Given the description of an element on the screen output the (x, y) to click on. 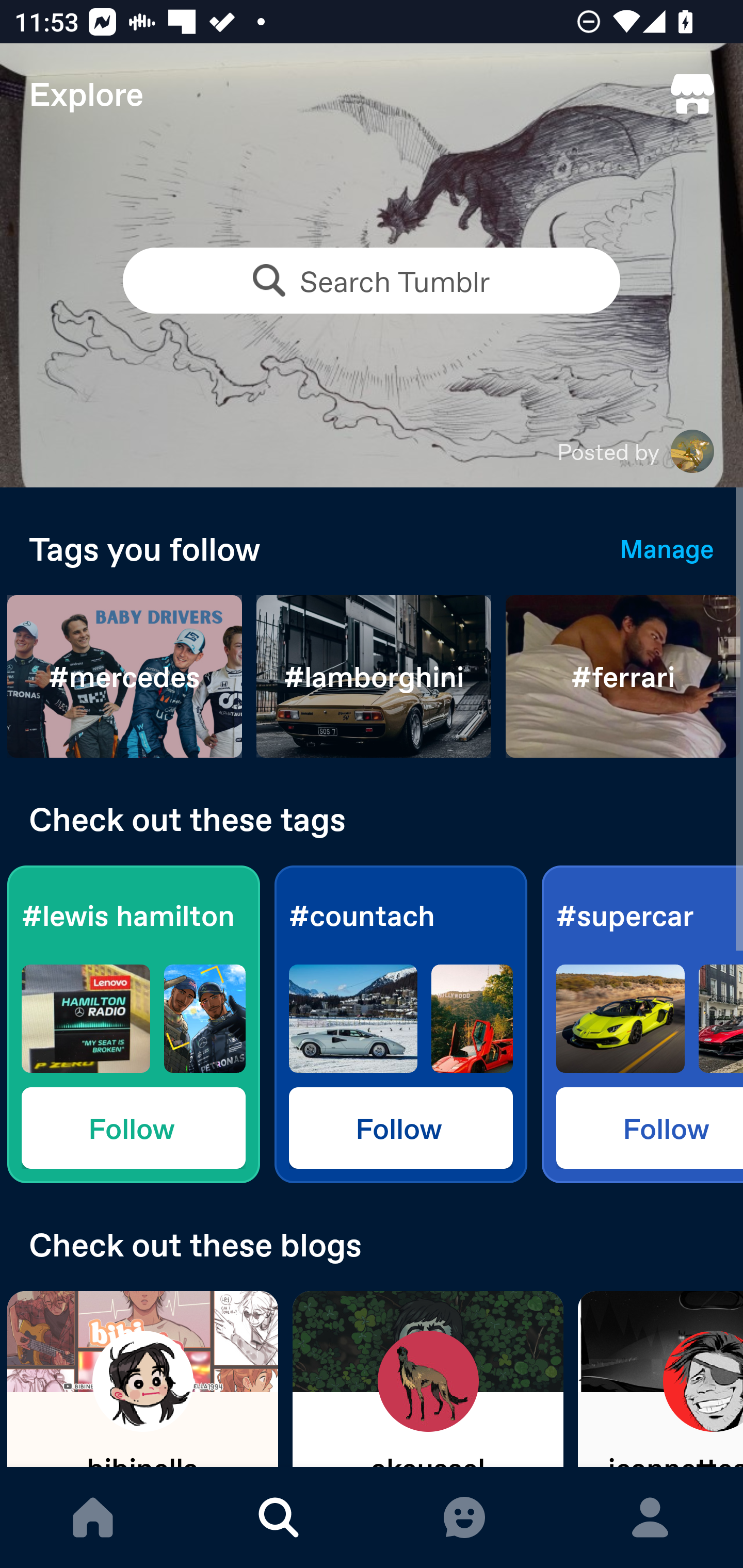
TumblrMart (692, 94)
Search Tumblr (371, 280)
Tags you follow (309, 547)
Manage (666, 547)
#mercedes (124, 676)
#lamborghini (373, 676)
#ferrari (622, 676)
Check out these tags (371, 819)
#lewis hamilton Follow (133, 1024)
#countach Follow (400, 1024)
#supercar Follow (642, 1024)
Follow (133, 1127)
Follow (400, 1127)
Follow (649, 1127)
Check out these blogs (371, 1244)
bibinella (142, 1378)
akeussel (427, 1378)
jeannettearroyo (660, 1378)
DASHBOARD (92, 1517)
EXPLORE (278, 1517)
MESSAGES (464, 1517)
ACCOUNT (650, 1517)
